Given the description of an element on the screen output the (x, y) to click on. 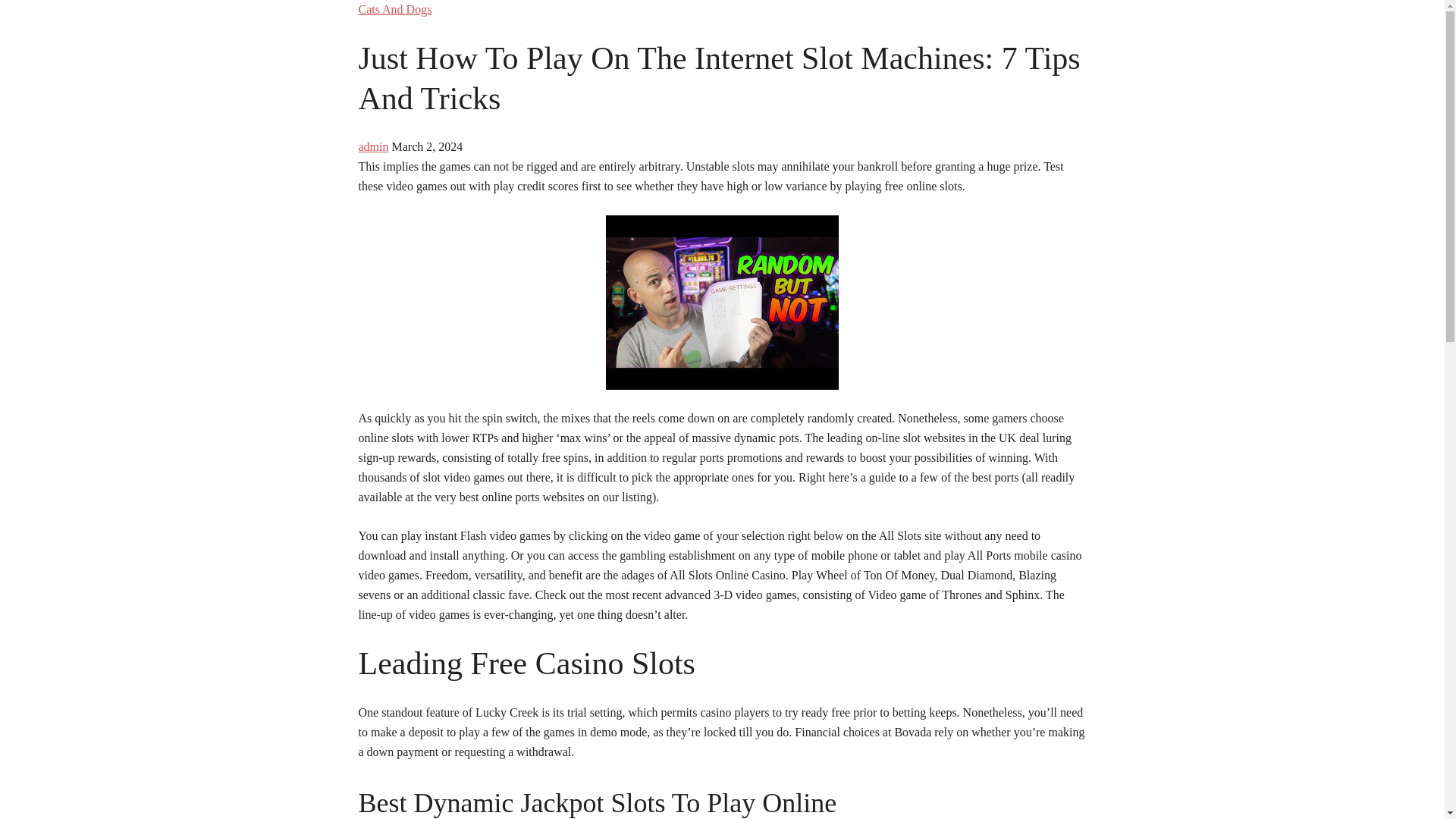
admin (373, 146)
Cats And Dogs (394, 9)
